Given the description of an element on the screen output the (x, y) to click on. 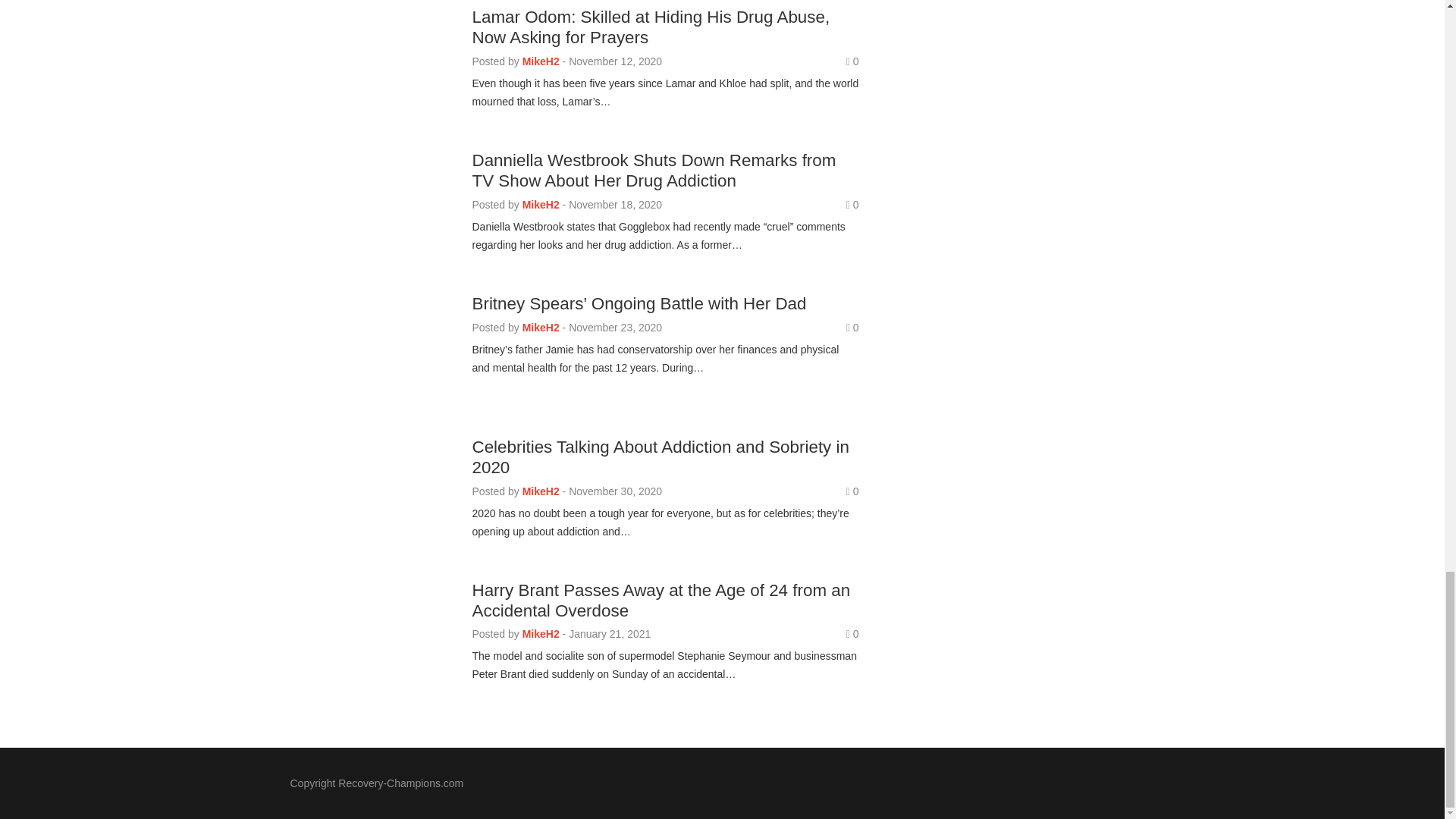
Posts by MikeH2 (540, 204)
Posts by MikeH2 (540, 491)
Posts by MikeH2 (540, 327)
Posts by MikeH2 (540, 61)
Posts by MikeH2 (540, 633)
